Given the description of an element on the screen output the (x, y) to click on. 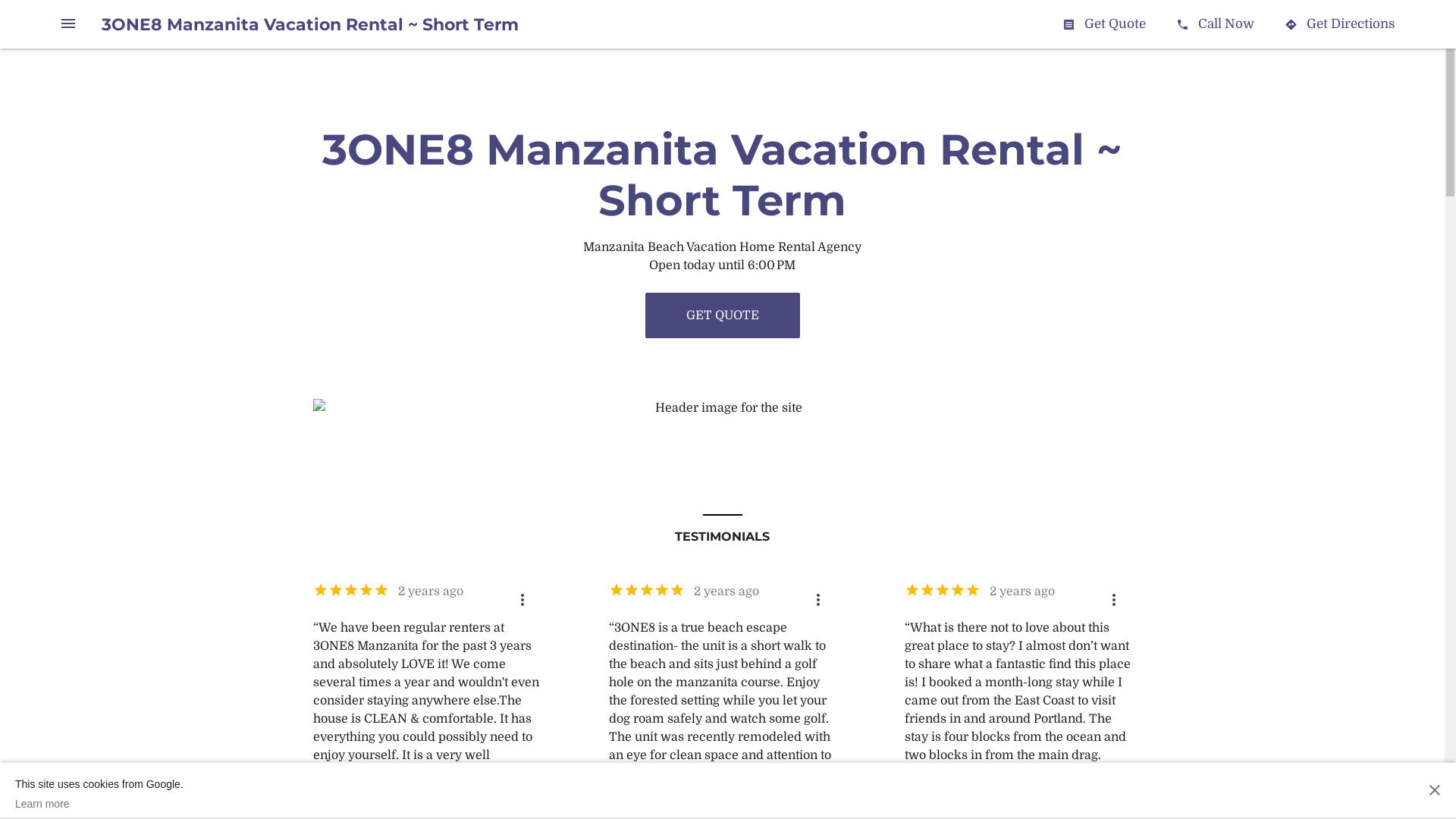
3ONE8 Manzanita Vacation Rental ~ Short Term Element type: text (309, 23)
Learn more Element type: text (99, 803)
GET QUOTE Element type: text (721, 315)
